Given the description of an element on the screen output the (x, y) to click on. 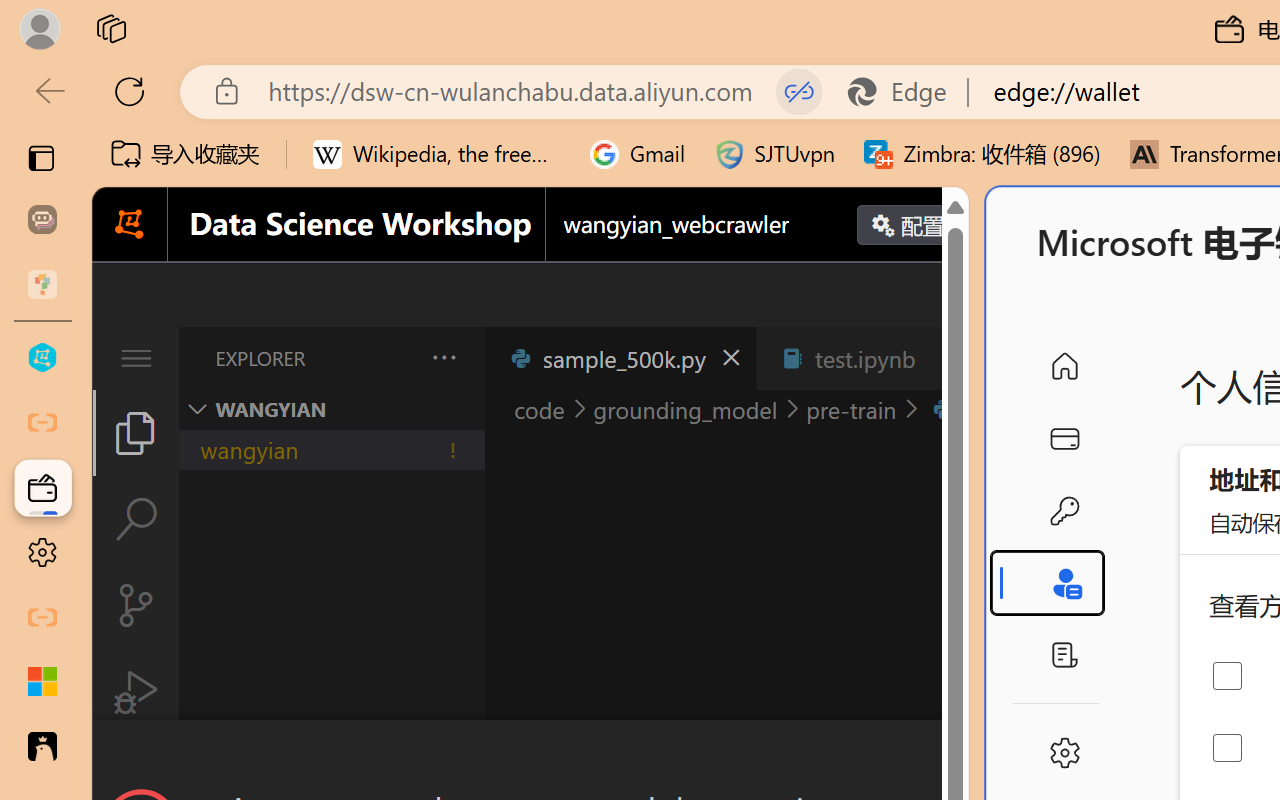
Explorer Section: wangyian (331, 409)
Class: actions-container (529, 756)
